Given the description of an element on the screen output the (x, y) to click on. 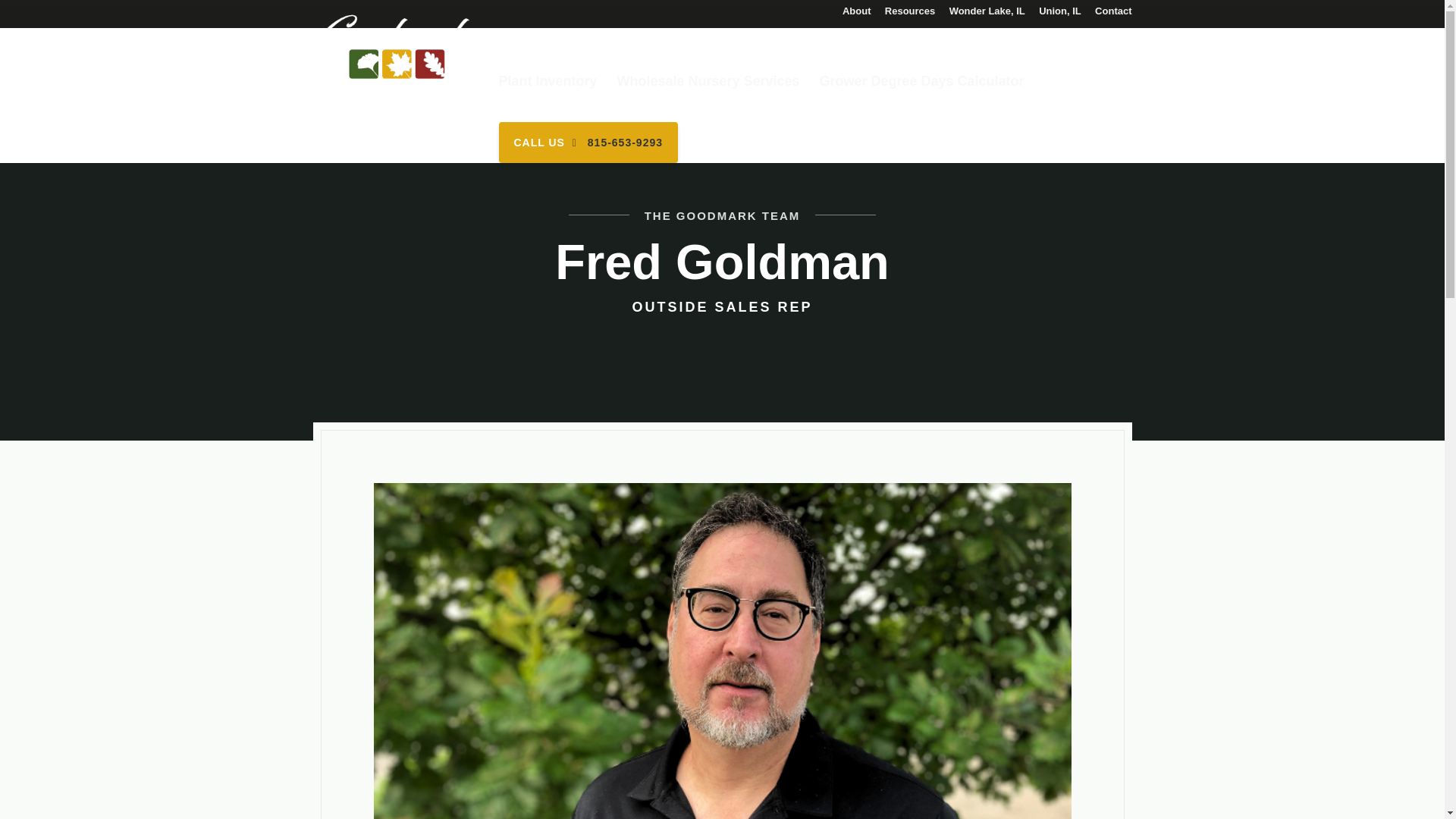
CALL US 815-653-9293 (588, 142)
Union, IL (1060, 14)
Plant Inventory (547, 87)
Resources (909, 14)
About (856, 14)
Grower Degree Days Calculator (920, 87)
Wholesale Nursery Services (707, 87)
Wonder Lake, IL (987, 14)
Contact (1112, 14)
